Given the description of an element on the screen output the (x, y) to click on. 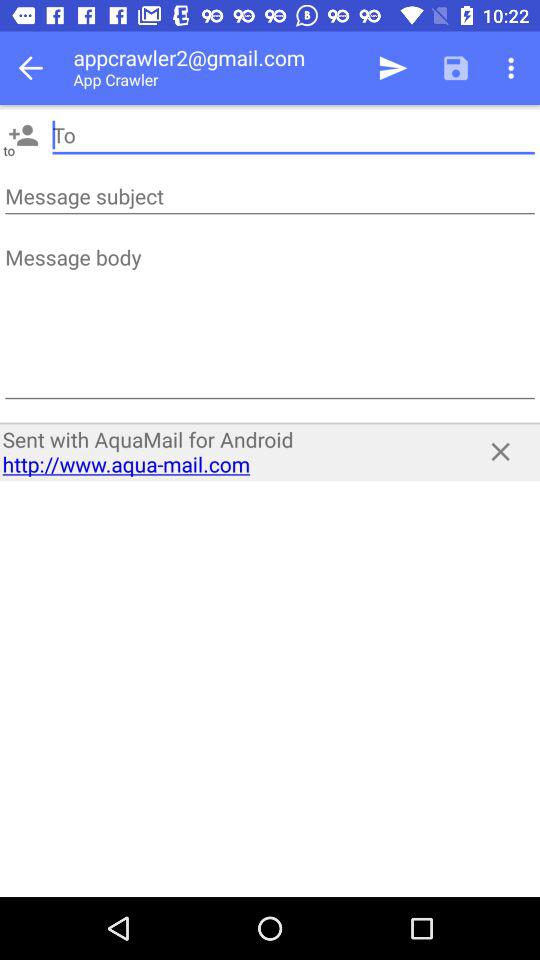
swipe to sent with aquamail app (228, 451)
